Given the description of an element on the screen output the (x, y) to click on. 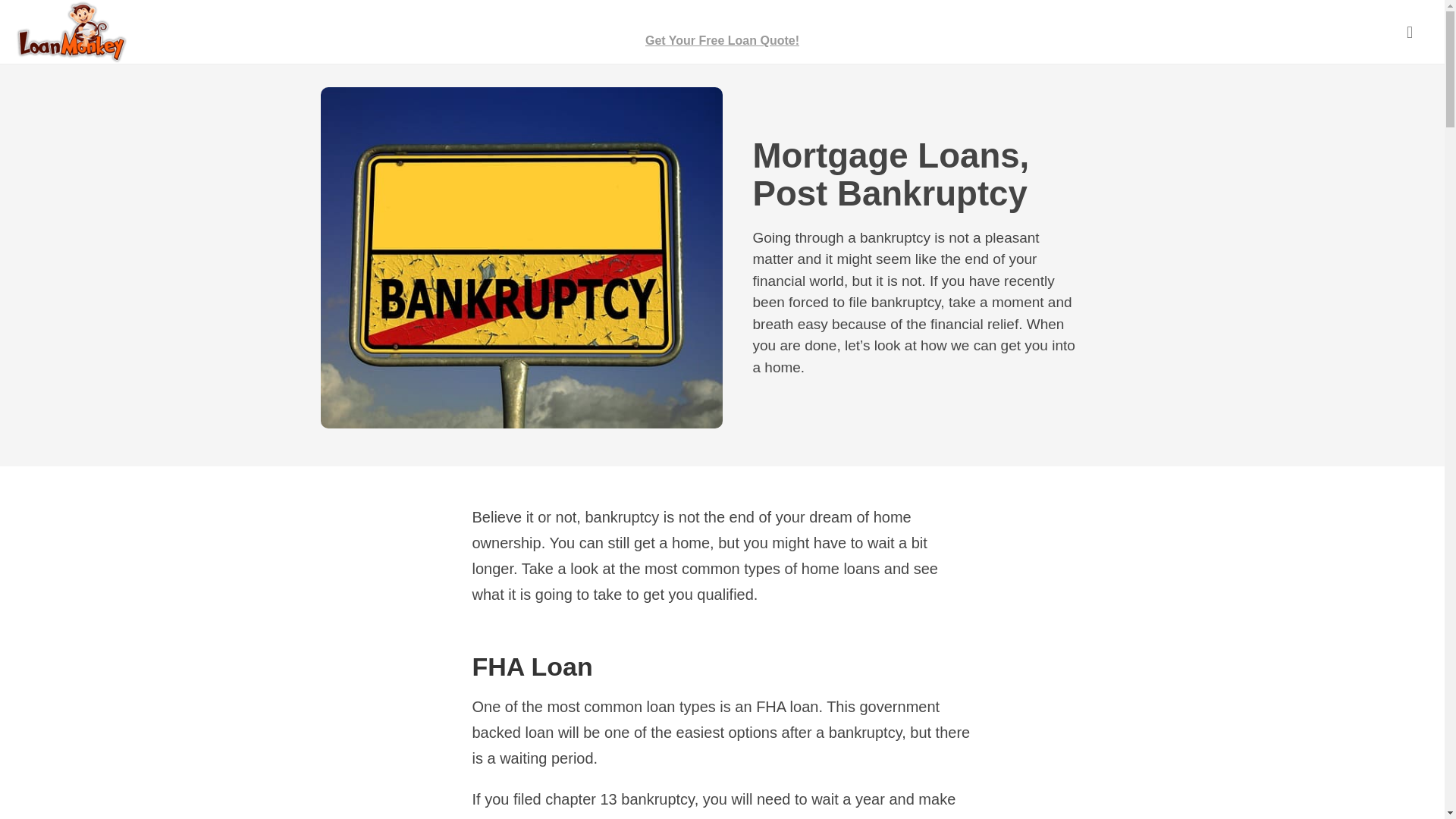
Get Your Free Loan Quote! (722, 31)
